Given the description of an element on the screen output the (x, y) to click on. 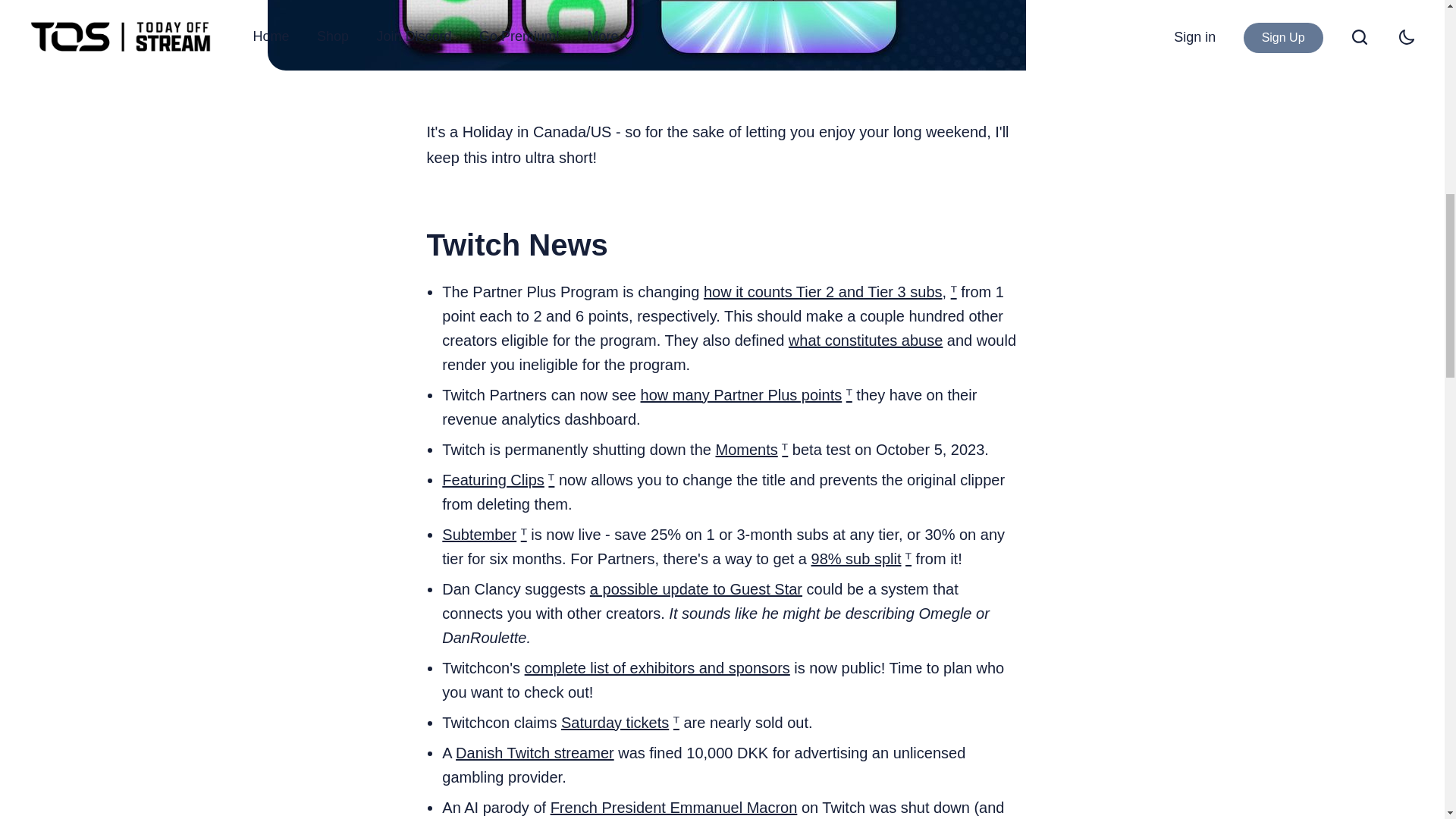
complete list of exhibitors and sponsors (657, 668)
how many Partner Plus points (741, 394)
Saturday tickets (614, 722)
Danish Twitch streamer (534, 752)
what constitutes abuse (865, 340)
how it counts Tier 2 and Tier 3 subs (822, 291)
a possible update to Guest Star (695, 588)
Featuring Clips (493, 479)
French President Emmanuel Macron (673, 807)
Moments (745, 449)
